Given the description of an element on the screen output the (x, y) to click on. 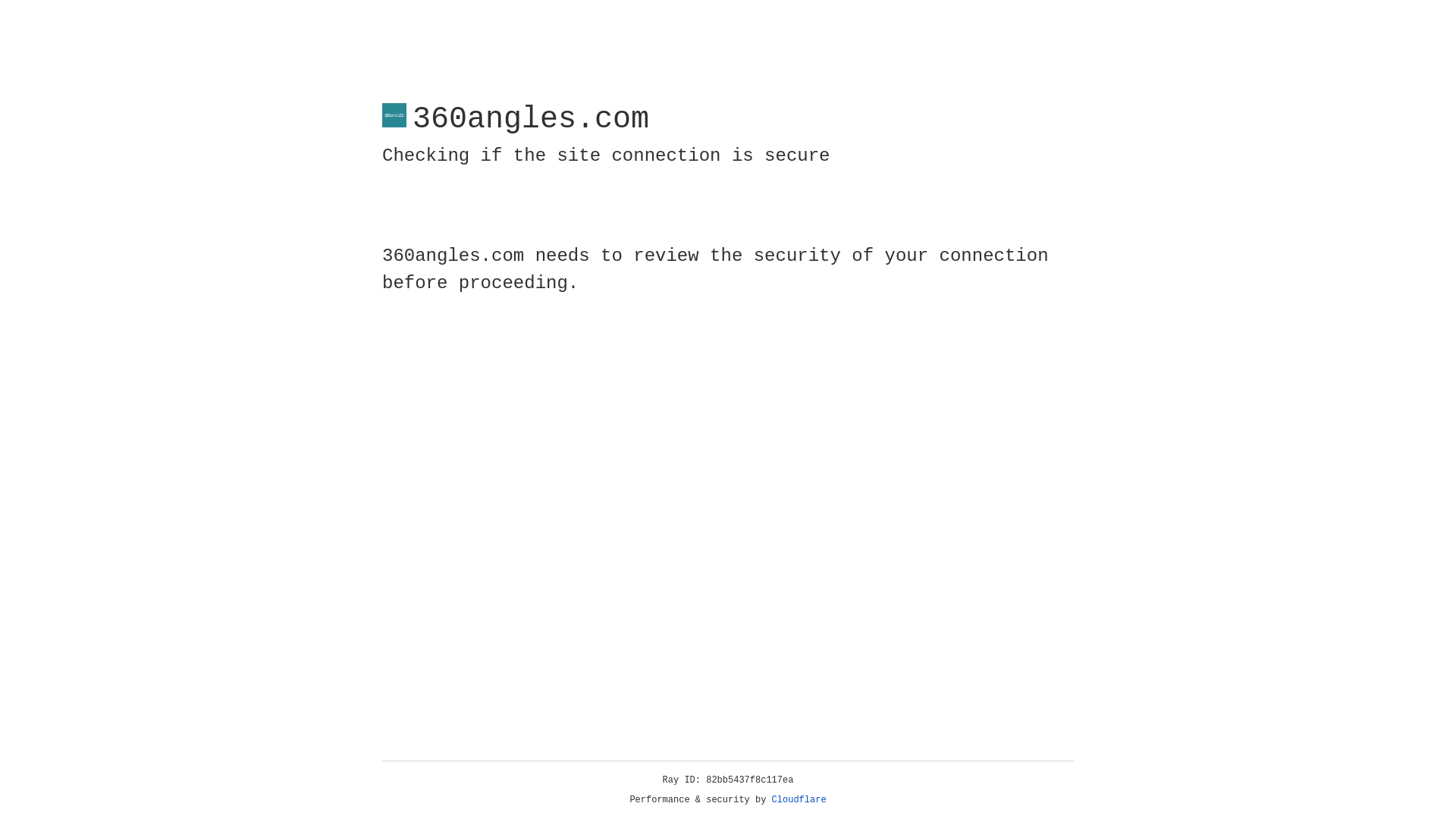
Cloudflare Element type: text (798, 799)
